Given the description of an element on the screen output the (x, y) to click on. 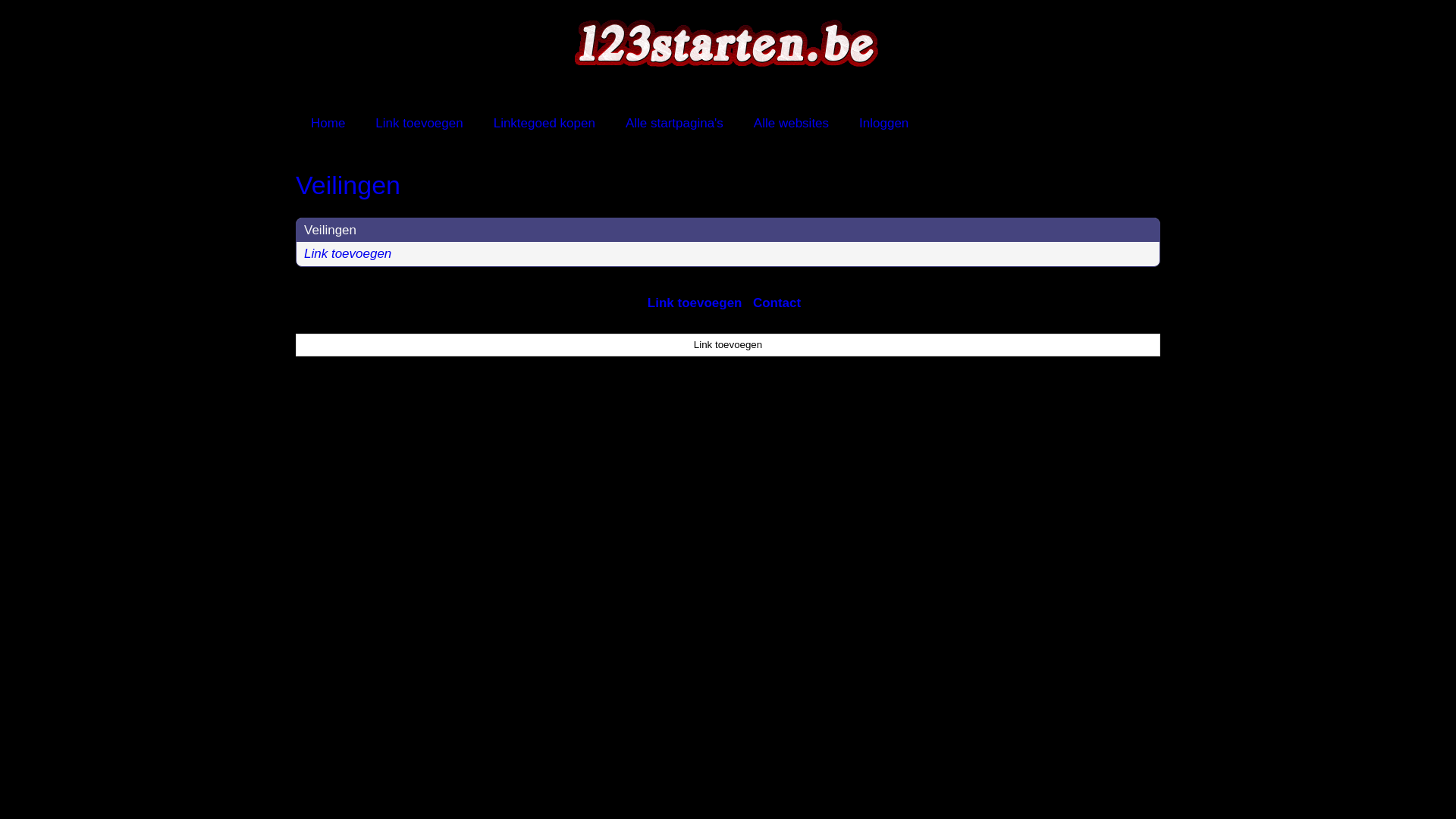
Alle websites Element type: text (791, 122)
Inloggen Element type: text (883, 122)
Link toevoegen Element type: text (727, 344)
Link toevoegen Element type: text (694, 302)
Link toevoegen Element type: text (418, 122)
Home Element type: text (327, 122)
Veilingen Element type: text (330, 229)
Contact Element type: text (776, 302)
Veilingen Element type: text (727, 185)
Link toevoegen Element type: text (347, 253)
Linktegoed kopen Element type: text (544, 122)
Alle startpagina's Element type: text (674, 122)
